Given the description of an element on the screen output the (x, y) to click on. 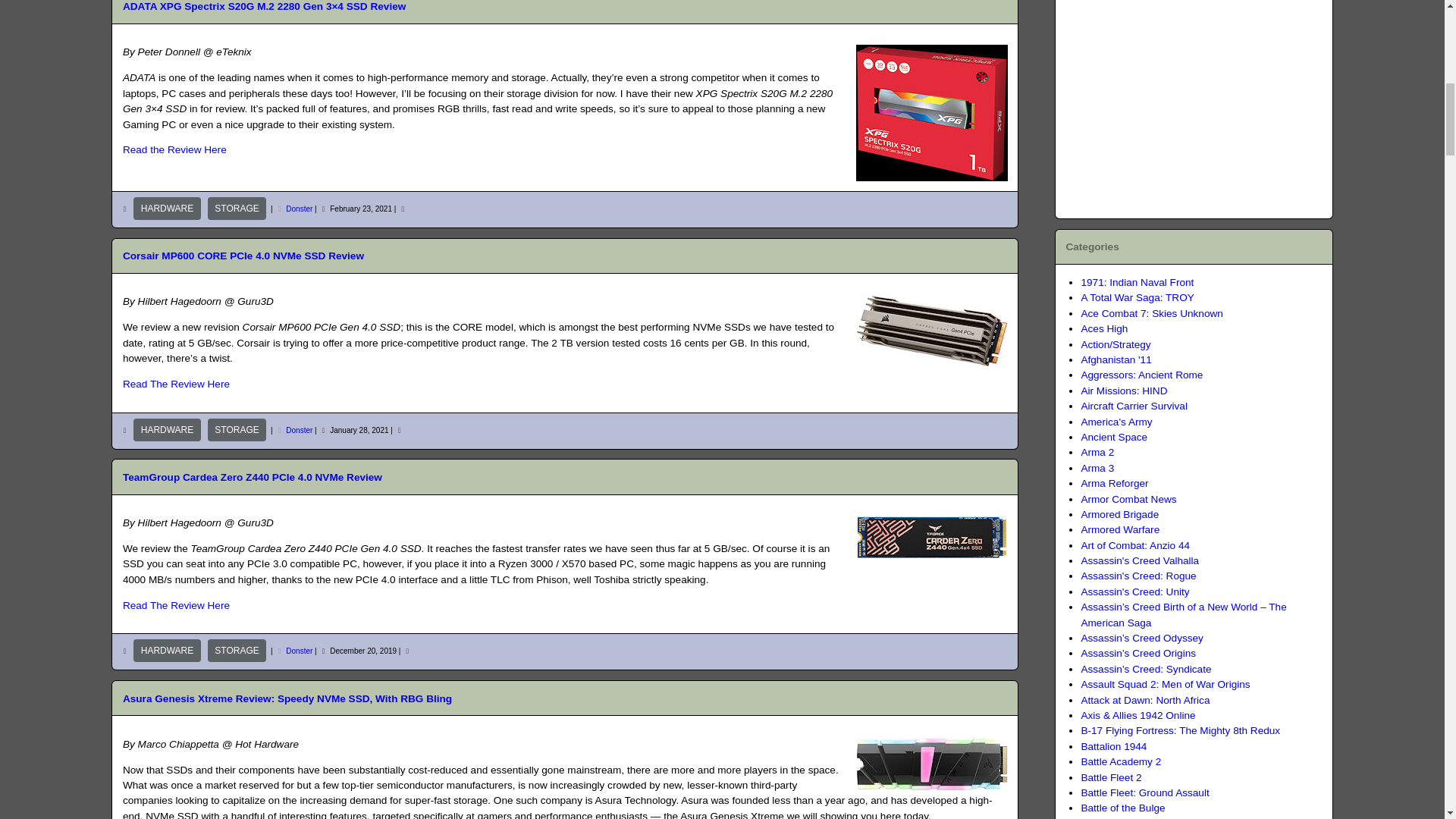
View all posts in Hardware (166, 208)
HARDWARE (166, 429)
Donster (299, 208)
View all posts in Storage (237, 208)
Read The Review Here (176, 383)
View all posts in Storage (237, 650)
TeamGroup Cardea Zero Z440 PCIe 4.0 NVMe Review (251, 477)
View all posts in Hardware (166, 429)
STORAGE (237, 429)
Donster (299, 651)
HARDWARE (166, 208)
View all posts in Storage (237, 429)
Donster (299, 429)
STORAGE (237, 650)
Read the Review Here (174, 149)
